Given the description of an element on the screen output the (x, y) to click on. 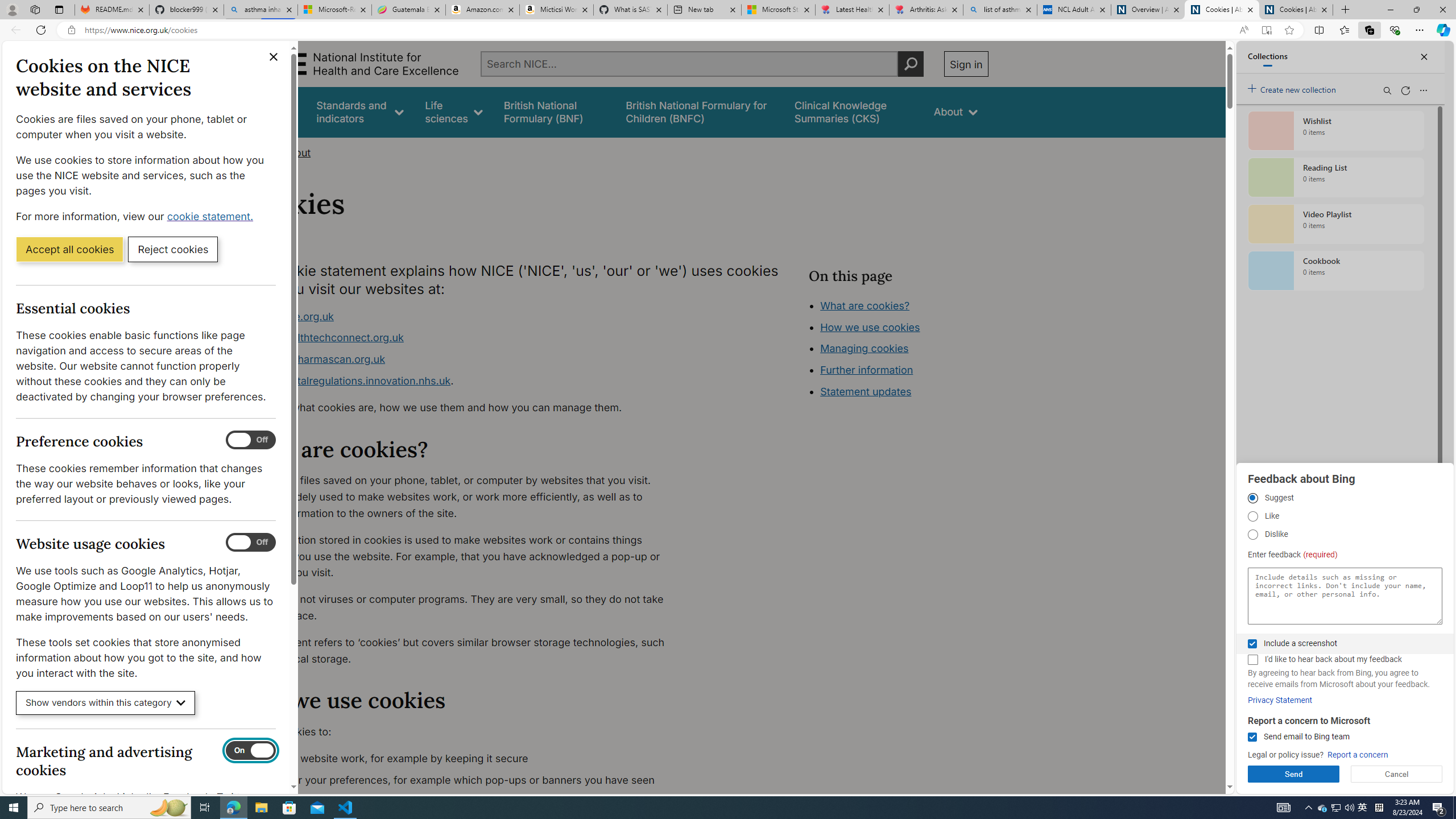
Preference cookies (250, 439)
make our website work, for example by keeping it secure (464, 759)
www.digitalregulations.innovation.nhs.uk. (464, 380)
Send email to Bing team (1251, 737)
